Given the description of an element on the screen output the (x, y) to click on. 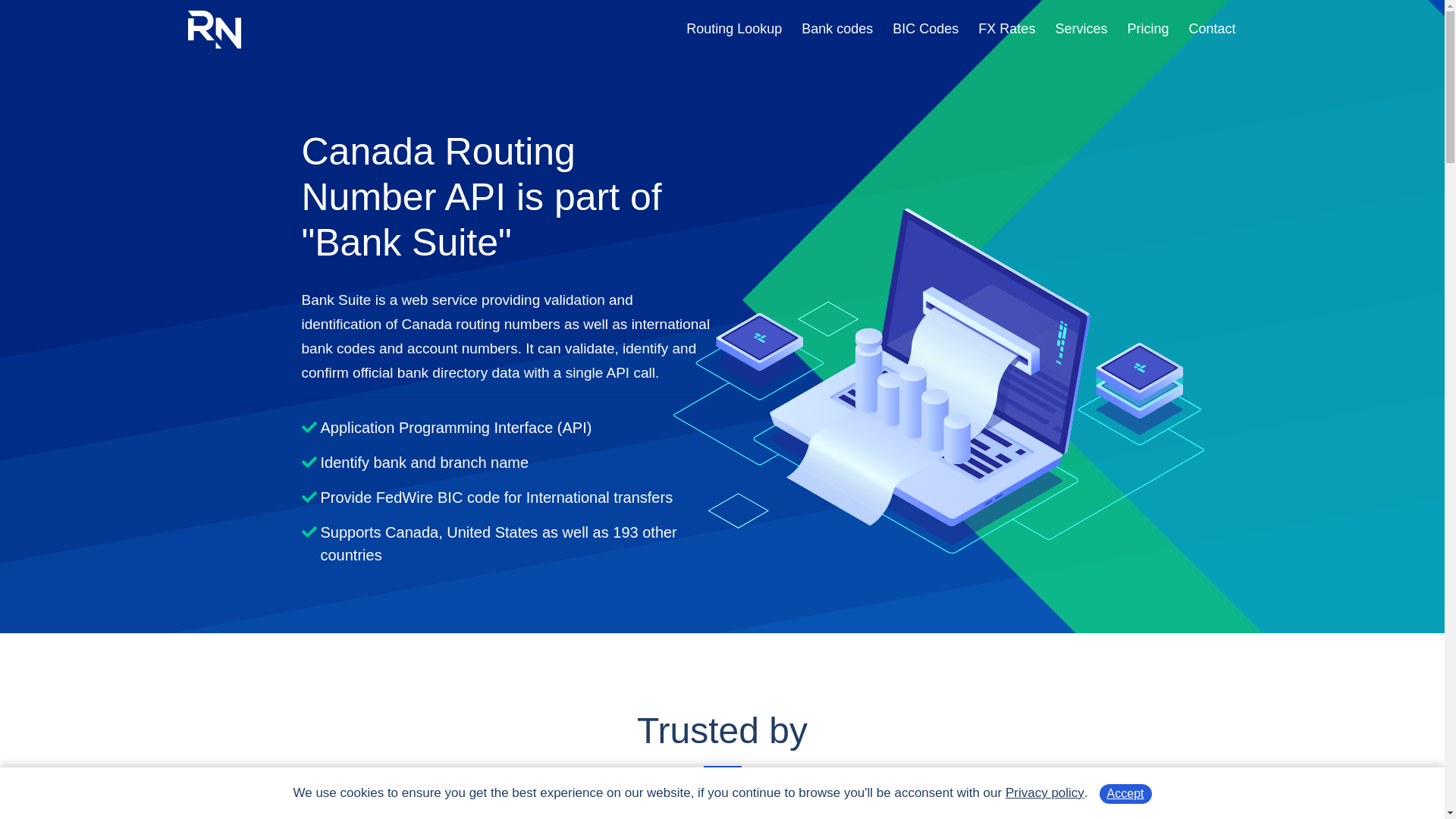
Pricing Element type: text (1147, 29)
Contact Element type: text (1211, 29)
Privacy policy Element type: text (1044, 792)
FX Rates Element type: text (1006, 29)
Accept Element type: text (1125, 793)
Routing Lookup Element type: text (733, 29)
BIC Codes Element type: text (925, 29)
Home Element type: hover (214, 29)
Services Element type: text (1080, 29)
Bank codes Element type: text (836, 29)
